Given the description of an element on the screen output the (x, y) to click on. 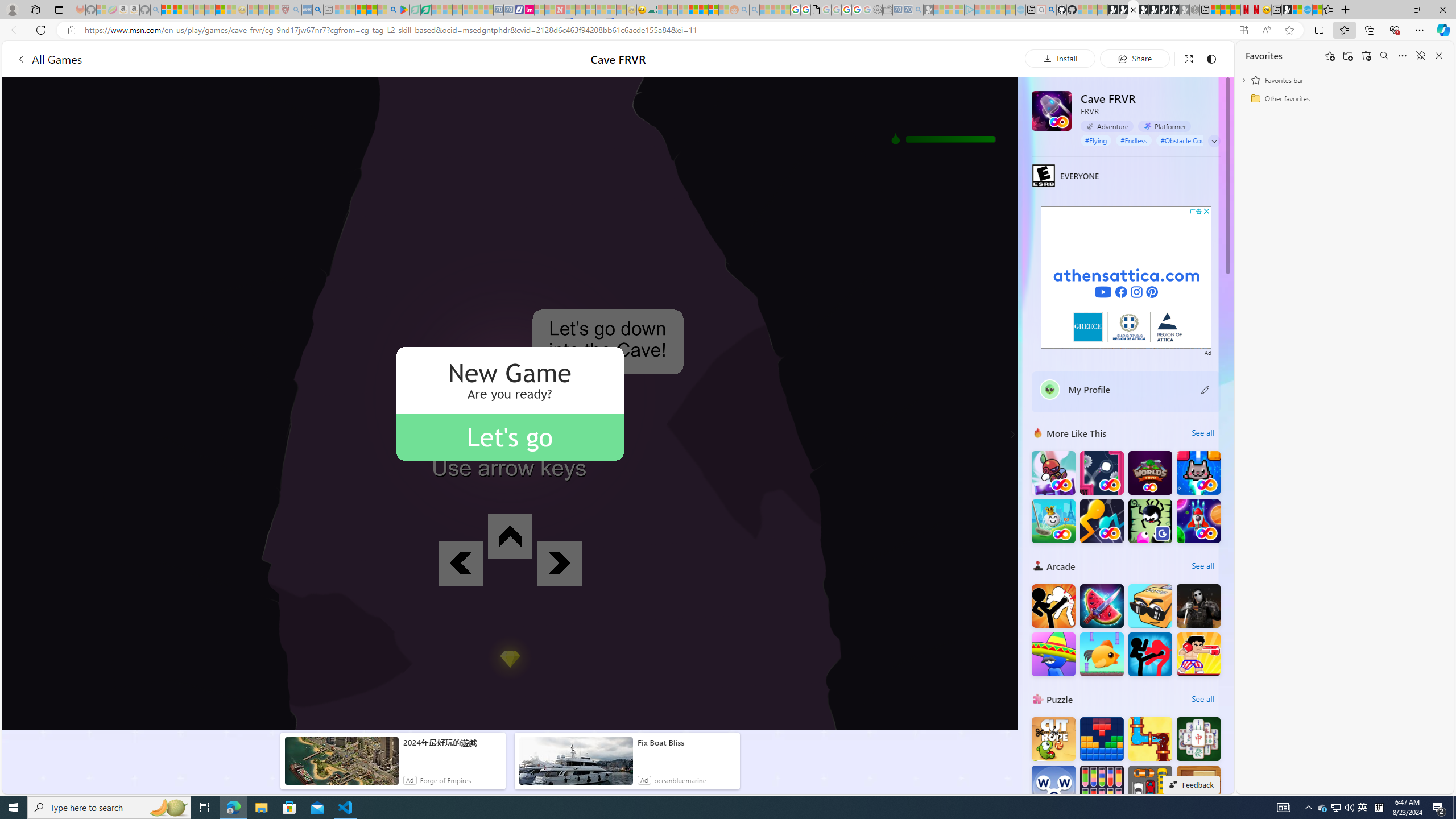
Change to dark mode (1211, 58)
""'s avatar (1049, 389)
Kitten Force FRVR (1198, 472)
Advertisement (1126, 277)
Plumber World (1149, 738)
Forge of Empires (445, 779)
Platformer (1164, 125)
utah sues federal government - Search (317, 9)
